Given the description of an element on the screen output the (x, y) to click on. 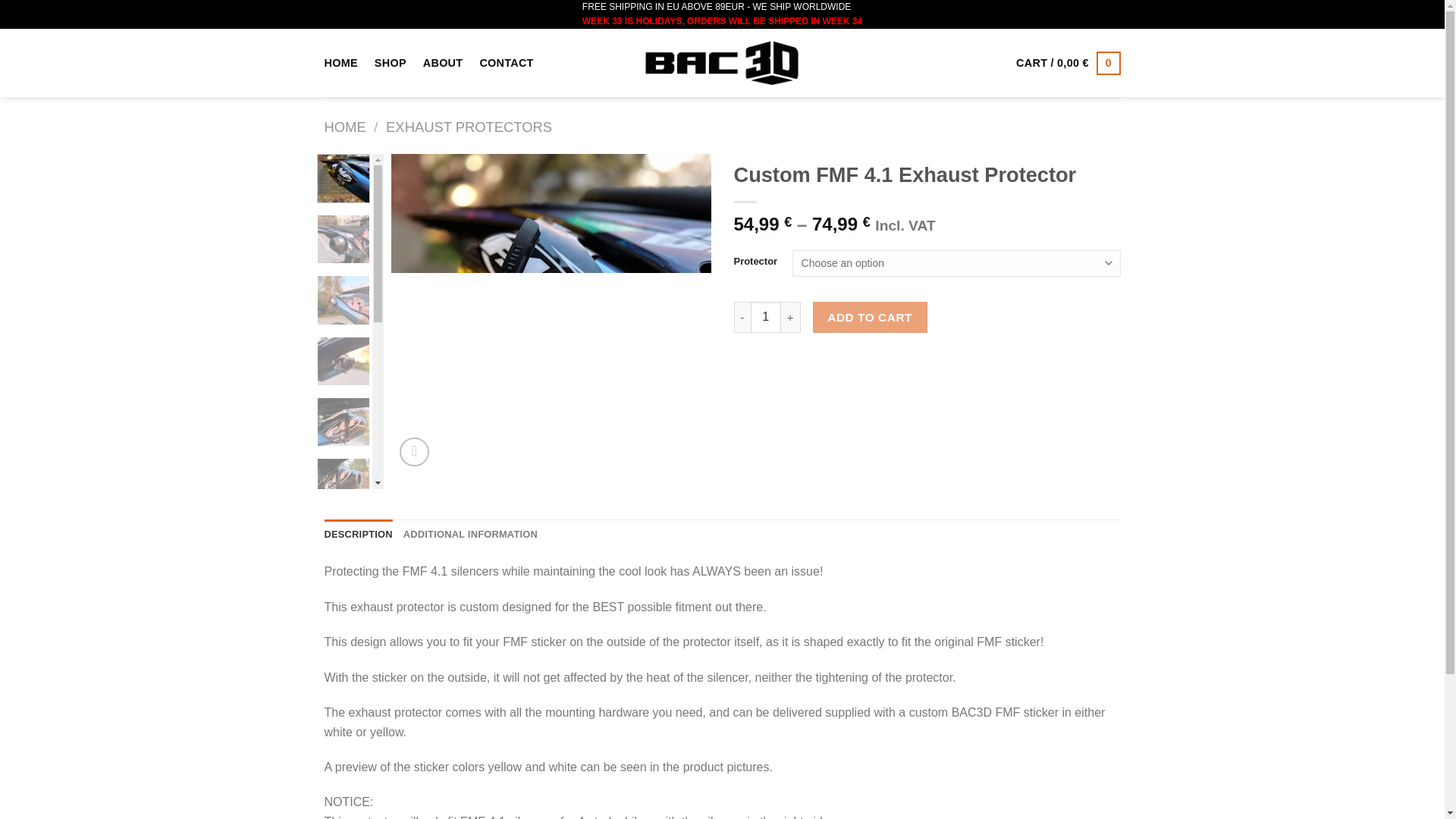
Cart (1067, 62)
ADD TO CART (869, 317)
CONTACT (505, 62)
Zoom (413, 451)
HOME (345, 126)
HOME (341, 62)
EXHAUST PROTECTORS (468, 126)
1 (765, 317)
BAC 3D - Custom 3D Bikeparts! (722, 63)
ABOUT (443, 62)
